Given the description of an element on the screen output the (x, y) to click on. 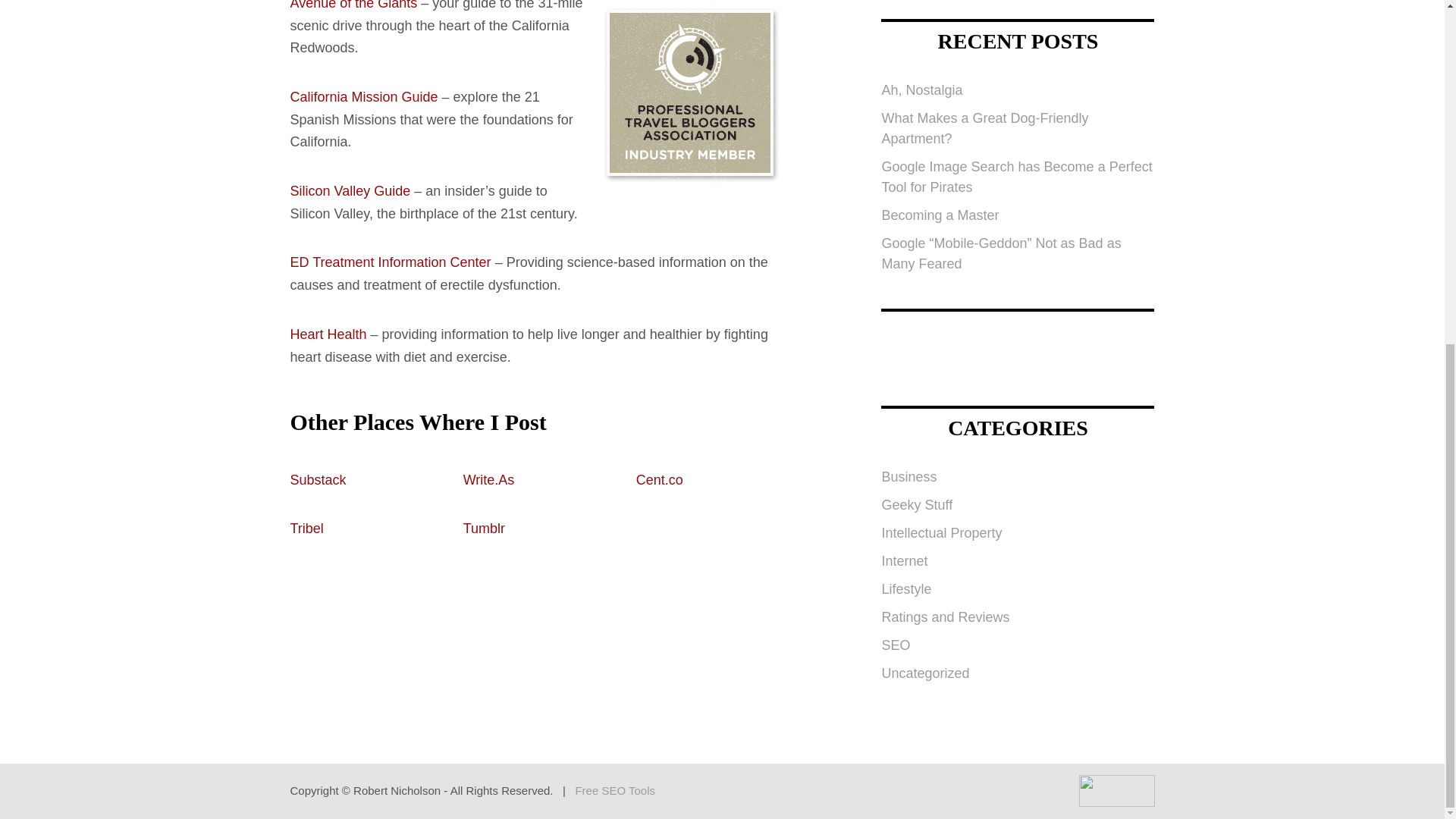
California Mission Guide (363, 96)
Silicon Valley Guide (349, 191)
California Mission Guide (363, 96)
Intellectual Property (940, 532)
Tribel (306, 528)
Uncategorized (924, 672)
Lifestyle (905, 589)
Free SEO Tools (615, 789)
Internet (903, 560)
Cent.co (659, 479)
ED Treatment Information Center (389, 262)
What Makes a Great Dog-Friendly Apartment? (983, 128)
Google Image Search has Become a Perfect Tool for Pirates (1015, 176)
Business (908, 476)
Write.As (489, 479)
